Given the description of an element on the screen output the (x, y) to click on. 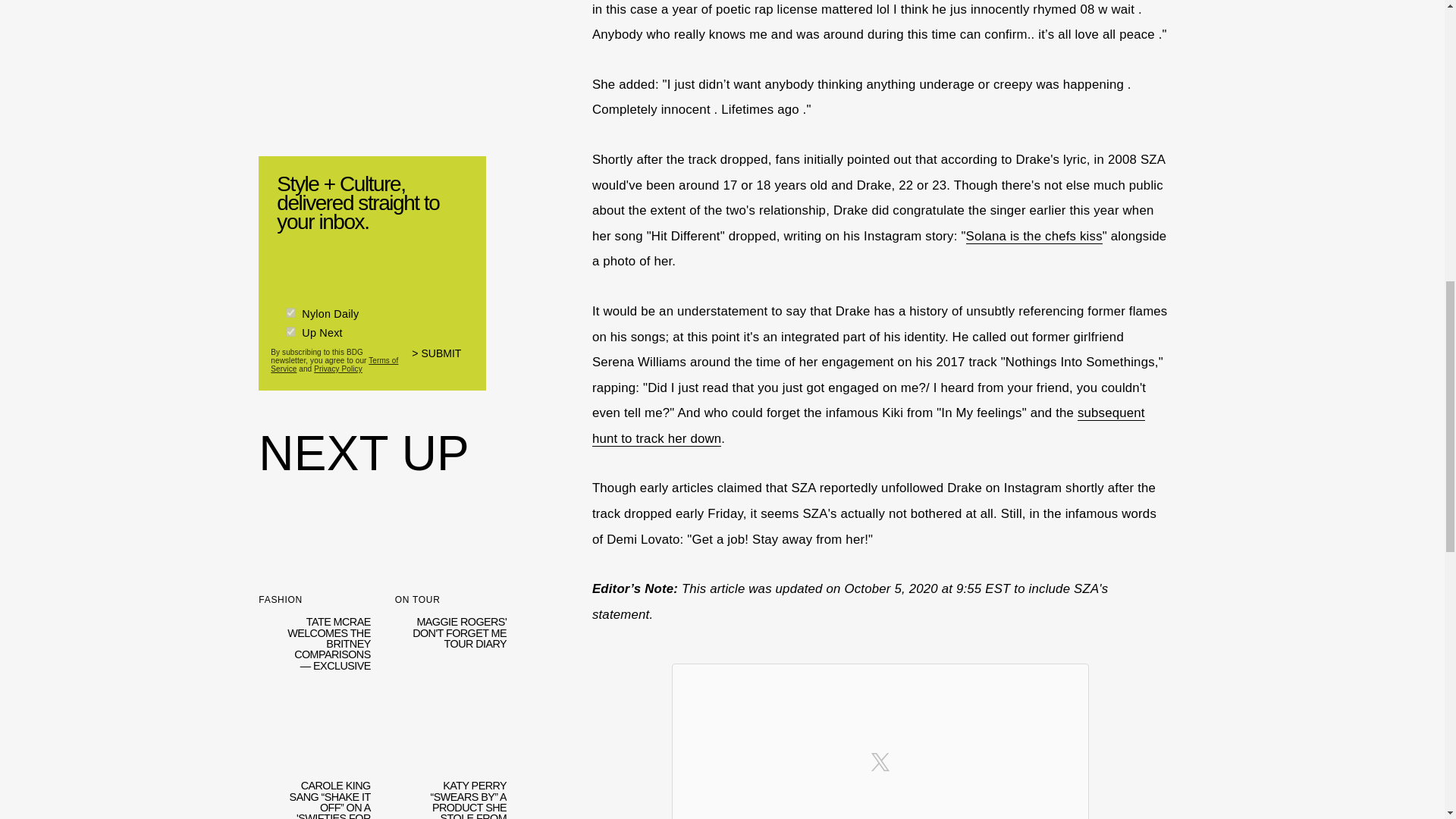
Privacy Policy (338, 368)
Terms of Service (333, 363)
Solana is the chefs kiss (1034, 236)
SUBMIT (443, 362)
subsequent hunt to track her down (868, 425)
